Given the description of an element on the screen output the (x, y) to click on. 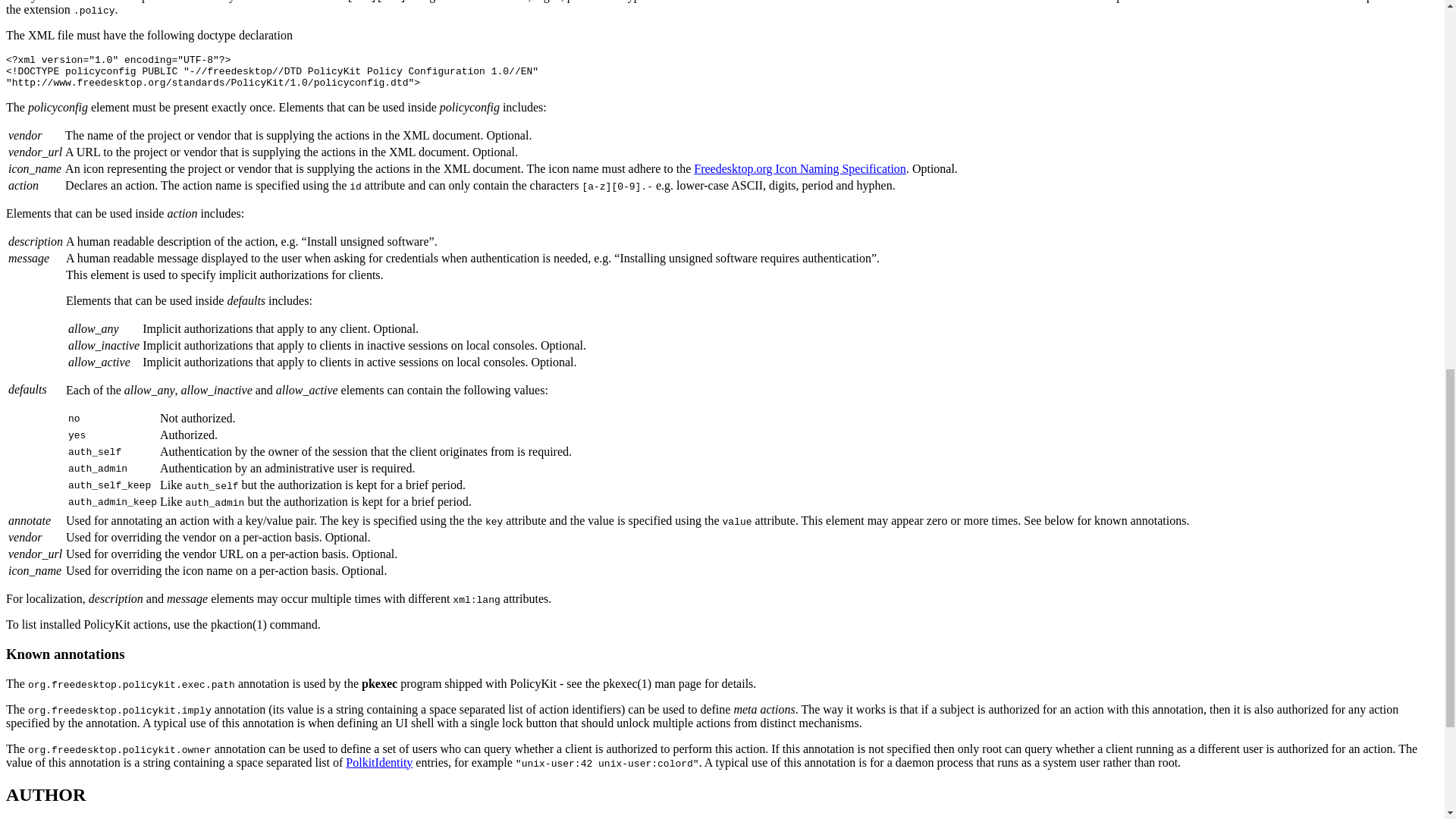
Freedesktop.org Icon Naming Specification (799, 168)
PolkitIdentity (379, 762)
PolkitIdentity (379, 762)
